Given the description of an element on the screen output the (x, y) to click on. 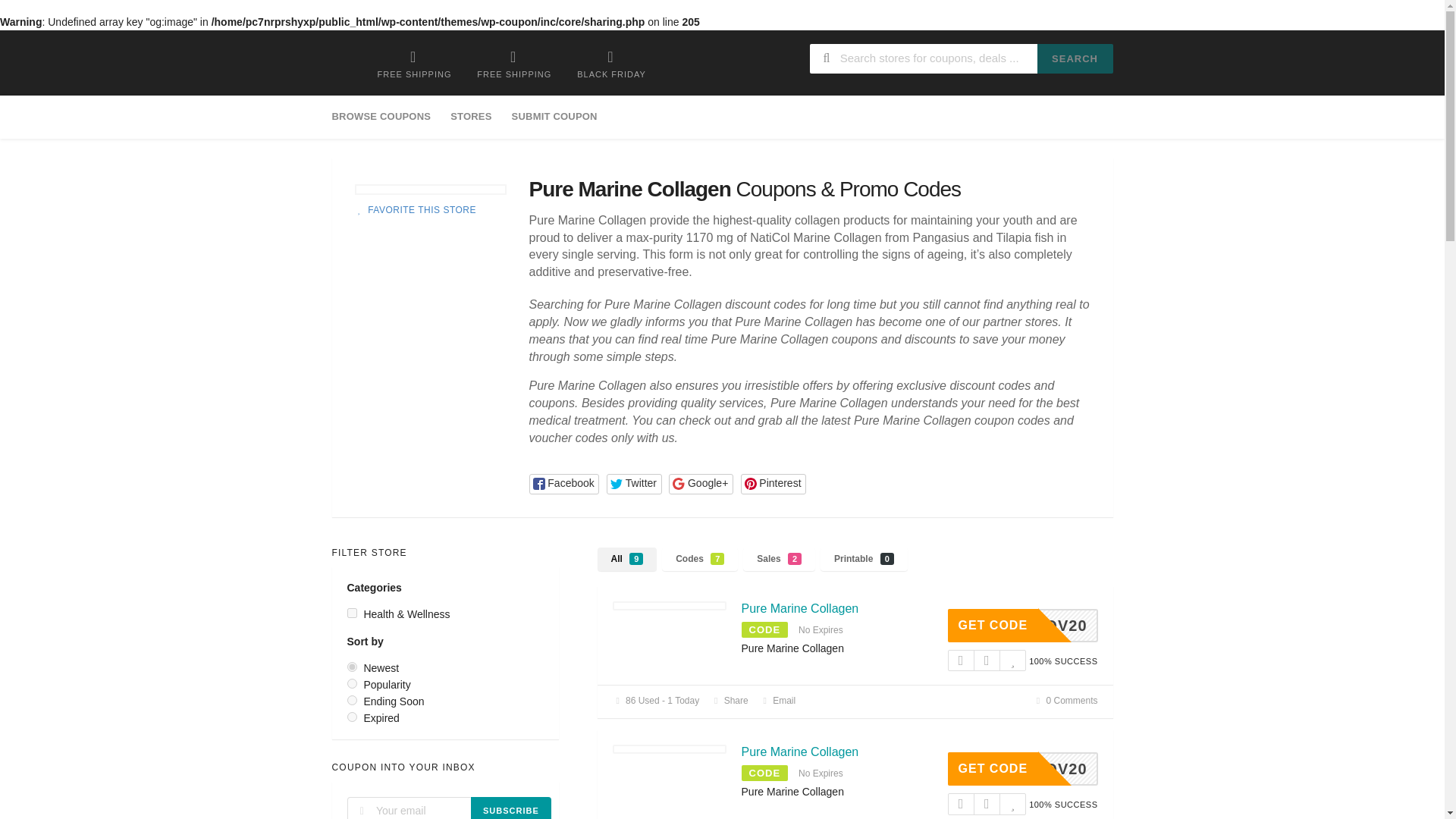
FREE SHIPPING (414, 63)
Email (778, 700)
Share link on Facebook (564, 484)
ending-soon (351, 700)
BROWSE COUPONS (386, 116)
Pure Marine Collagen (800, 608)
Share (729, 700)
SUBMIT COUPON (554, 116)
Send this coupon to an email (778, 700)
0 Comments (1064, 700)
